Given the description of an element on the screen output the (x, y) to click on. 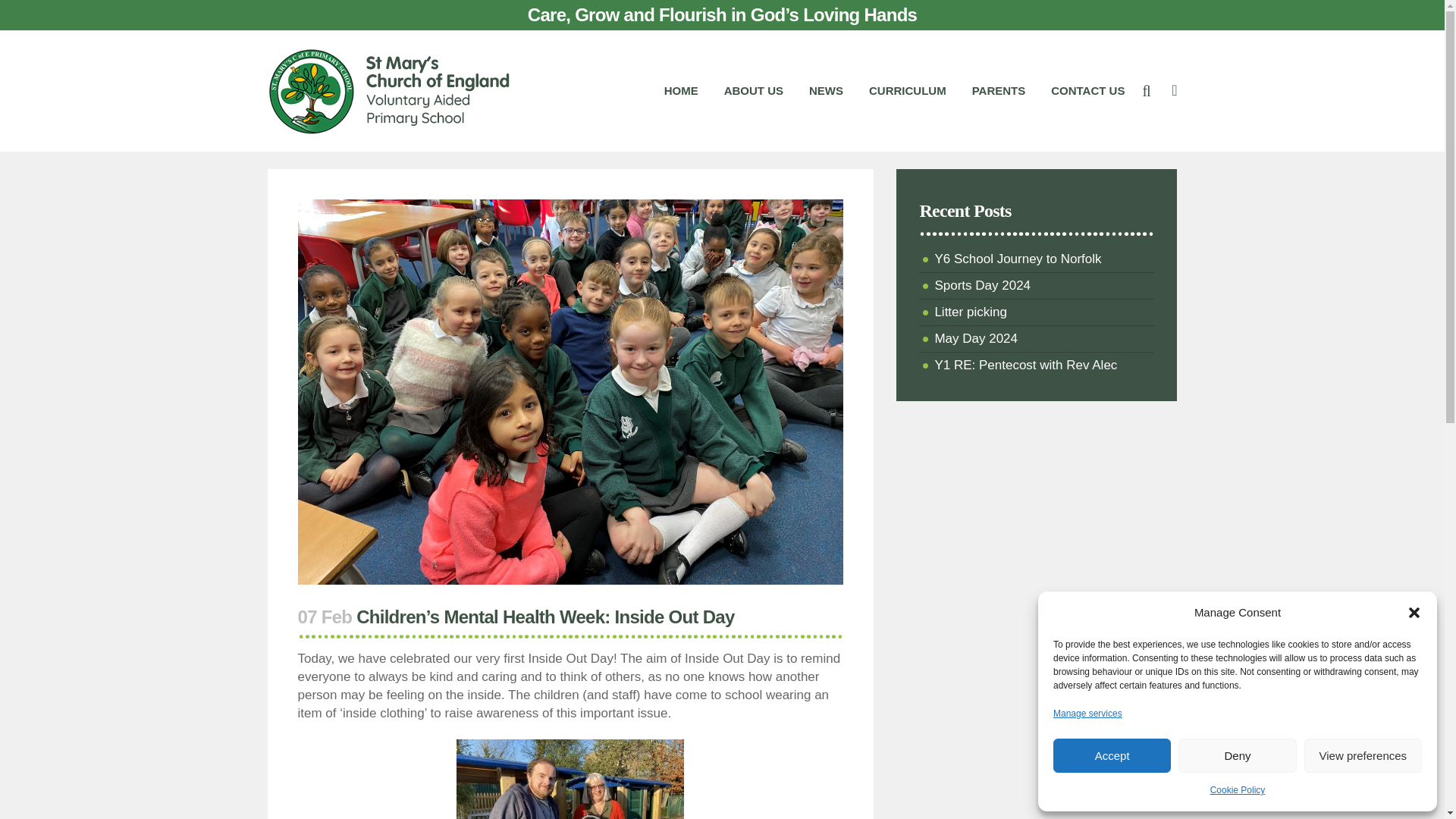
Cookie Policy (1237, 790)
View preferences (1363, 755)
Deny (1236, 755)
Accept (1111, 755)
Manage services (1087, 713)
